Given the description of an element on the screen output the (x, y) to click on. 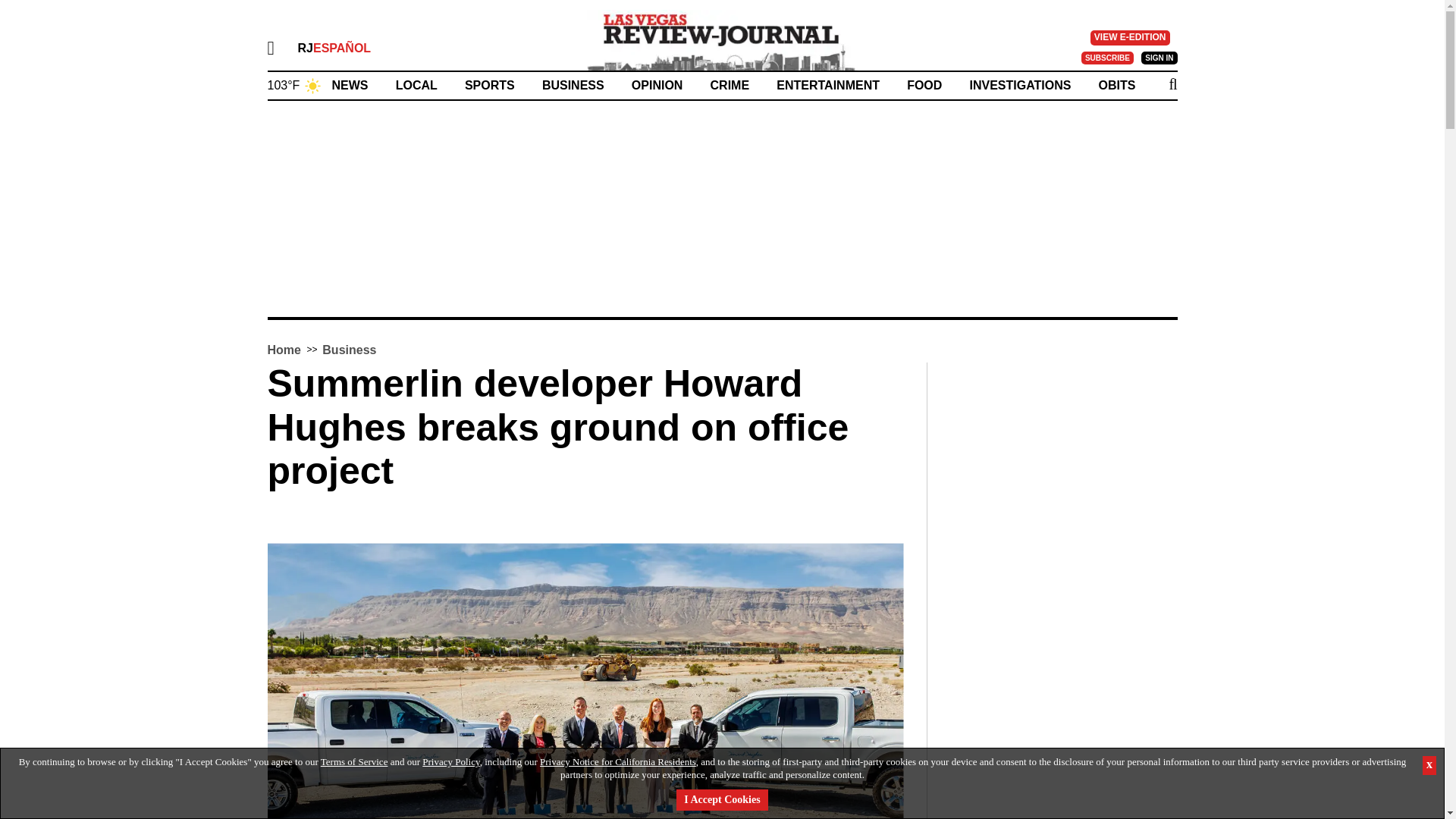
Las Vegas News (721, 39)
ENTERTAINMENT (827, 84)
OPINION (656, 84)
INVESTIGATIONS (1019, 84)
VIEW E-EDITION (1130, 37)
OBITS (1117, 84)
LOCAL (417, 84)
CRIME (729, 84)
Weather Forecast (293, 83)
SIGN IN (1158, 58)
